Given the description of an element on the screen output the (x, y) to click on. 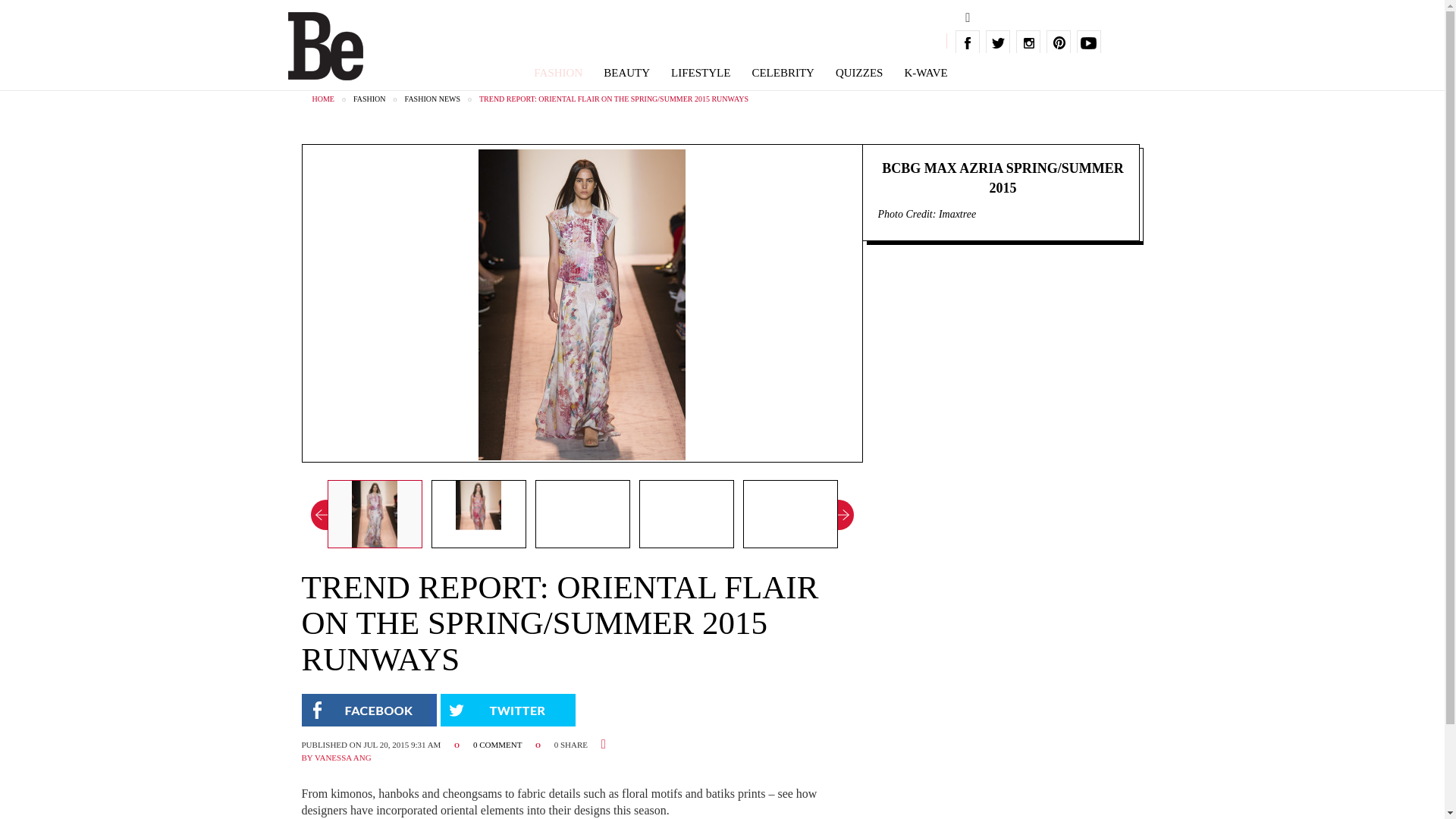
LIFESTYLE (700, 72)
FASHION (558, 72)
BEAUTY (626, 72)
CELEBRITY (782, 72)
0 COMMENT (498, 744)
